Given the description of an element on the screen output the (x, y) to click on. 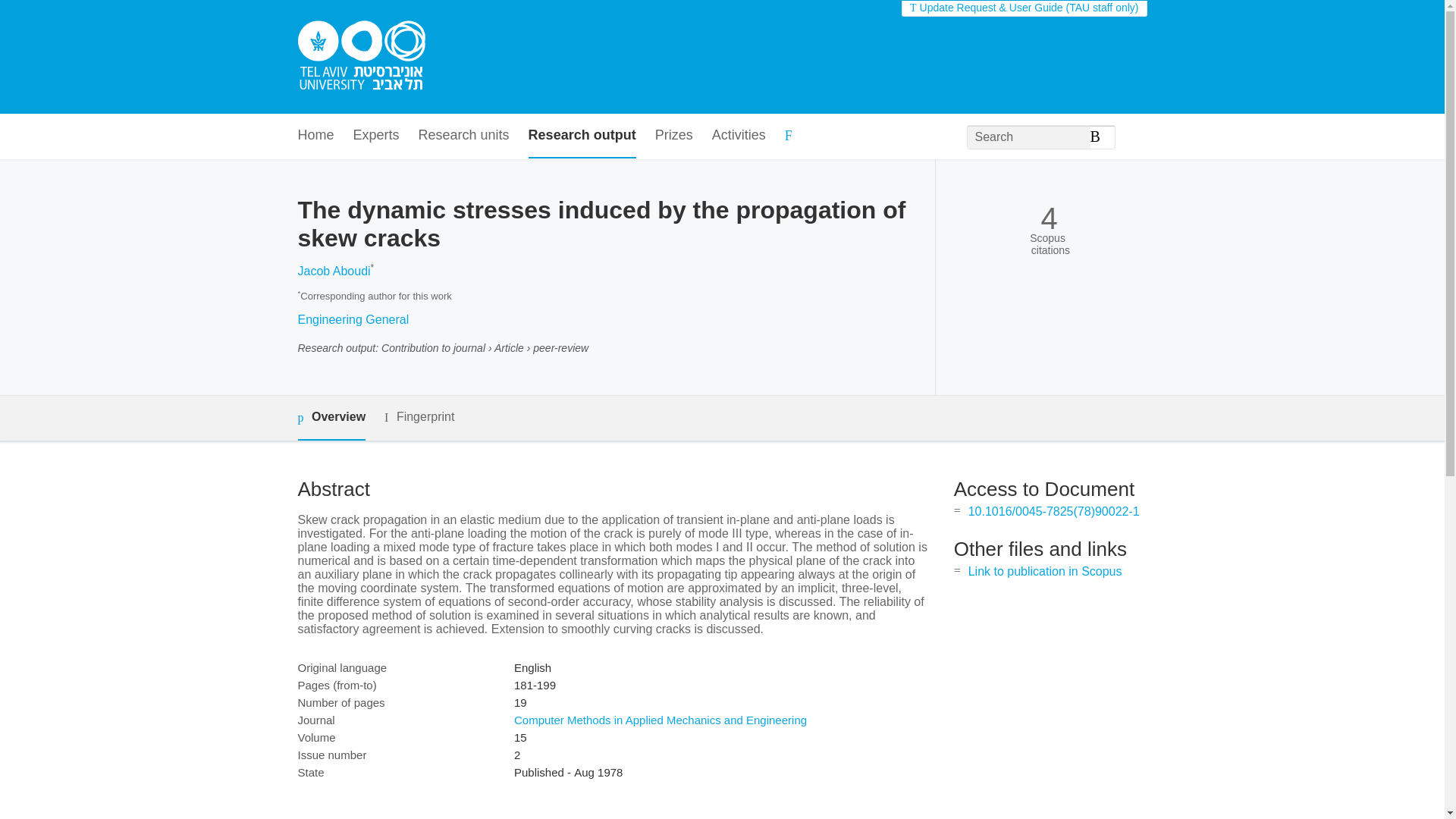
Engineering General (353, 318)
Jacob Aboudi (333, 270)
Activities (738, 135)
Research units (464, 135)
Link to publication in Scopus (1045, 571)
Experts (375, 135)
Fingerprint (419, 416)
Overview (331, 417)
Research output (582, 135)
